Given the description of an element on the screen output the (x, y) to click on. 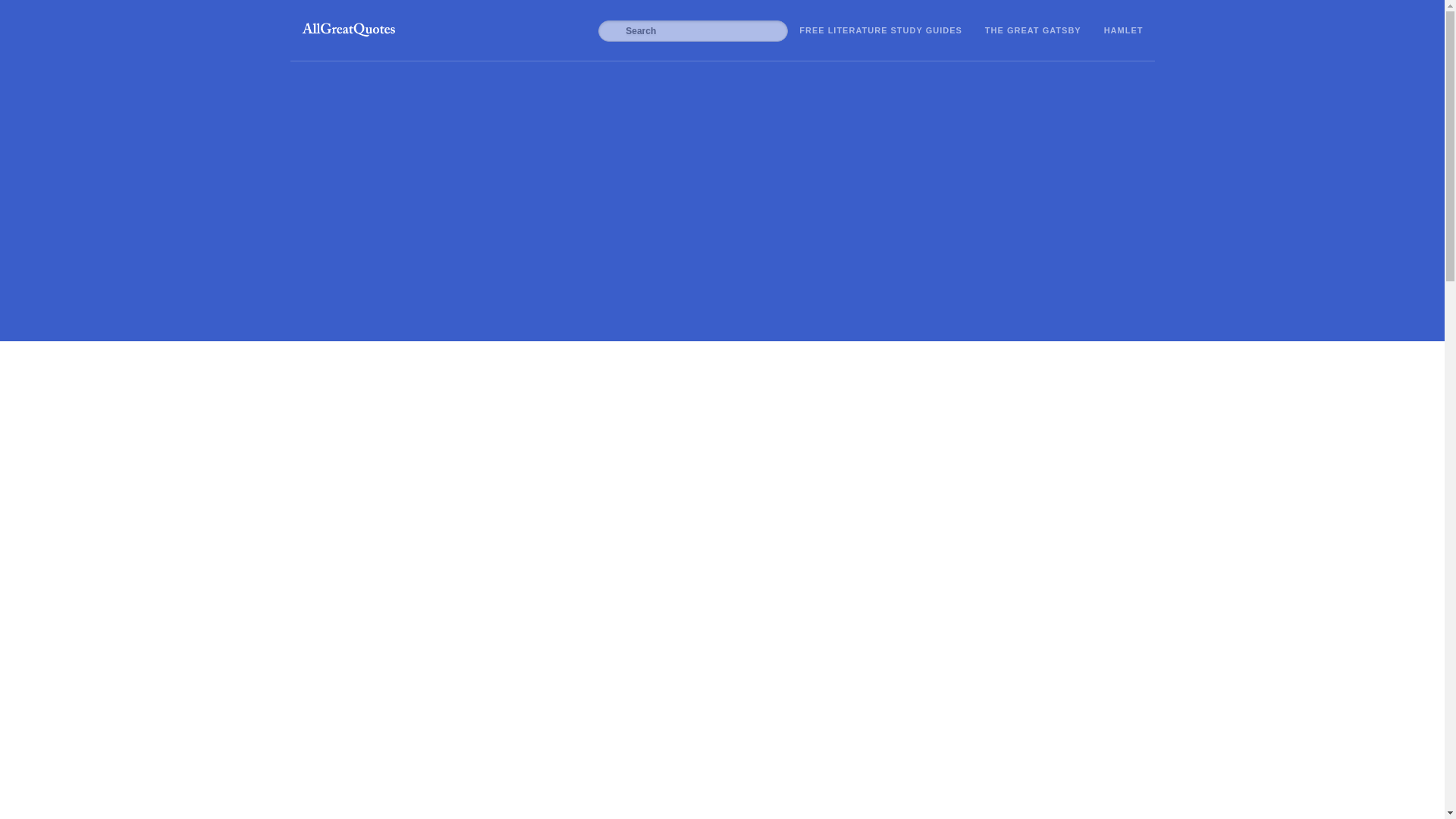
THE GREAT GATSBY (1033, 30)
FREE LITERATURE STUDY GUIDES (880, 30)
